Given the description of an element on the screen output the (x, y) to click on. 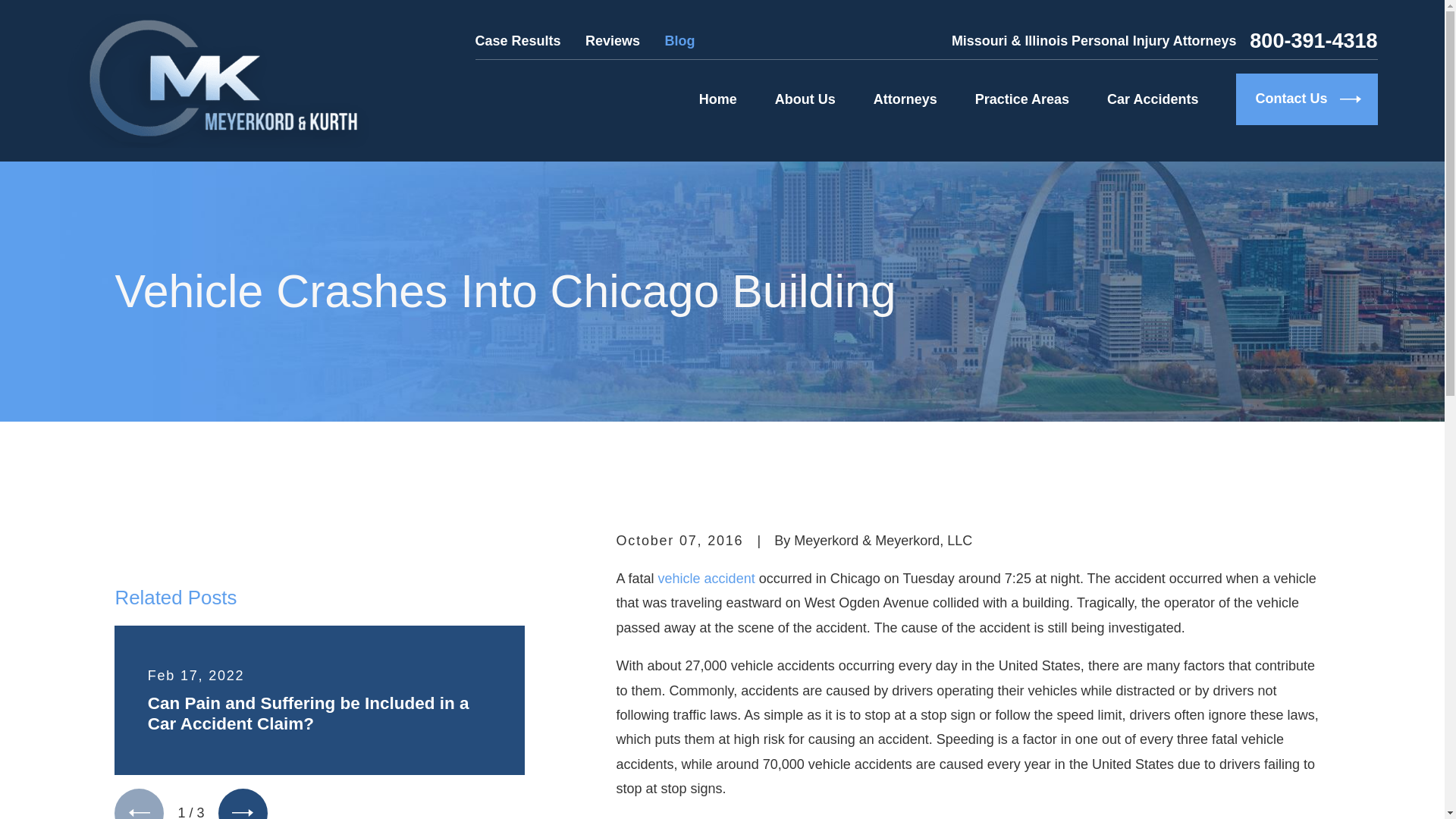
View next item (242, 803)
Home (217, 80)
Blog (678, 40)
About Us (804, 99)
Reviews (612, 40)
800-391-4318 (1313, 41)
Case Results (518, 40)
Car Accidents (1152, 99)
Practice Areas (1021, 99)
View previous item (139, 803)
Attorneys (905, 99)
